Given the description of an element on the screen output the (x, y) to click on. 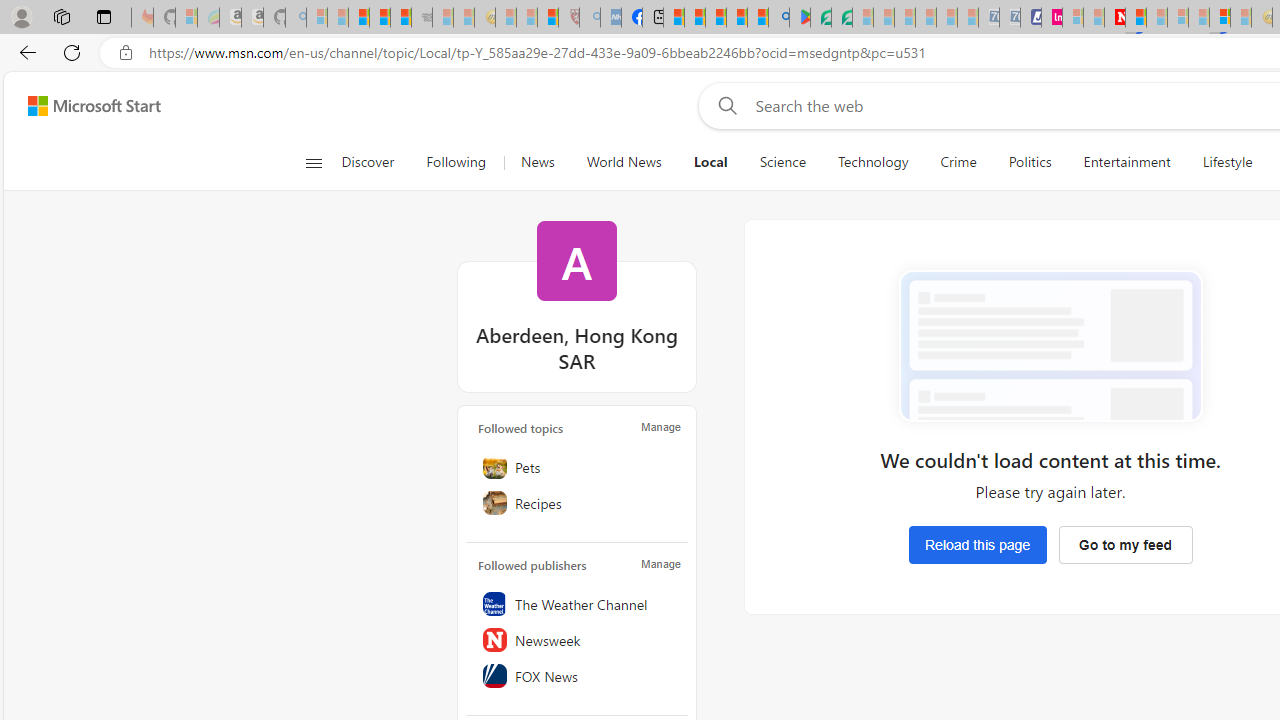
The Weather Channel (577, 603)
google - Search (778, 17)
Class: button-glyph (313, 162)
Crime (958, 162)
Microsoft Word - consumer-privacy address update 2.2021 (842, 17)
Entertainment (1126, 162)
Offline games - Android Apps on Google Play (799, 17)
